Given the description of an element on the screen output the (x, y) to click on. 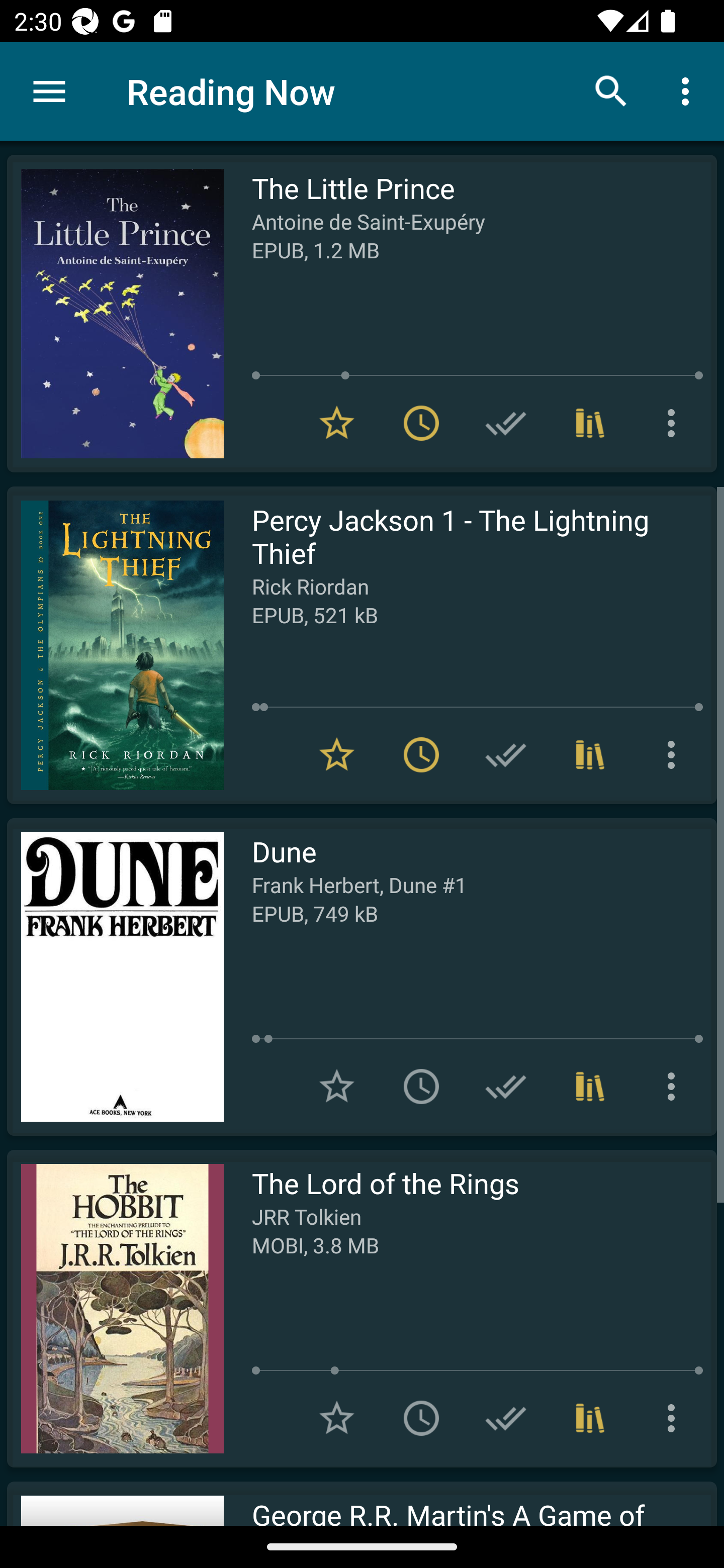
Menu (49, 91)
Search books & documents (611, 90)
More options (688, 90)
Read The Little Prince (115, 313)
Remove from Favorites (336, 423)
Remove from To read (421, 423)
Add to Have read (505, 423)
Collections (1) (590, 423)
More options (674, 423)
Read Percy Jackson 1 - The Lightning Thief (115, 645)
Remove from Favorites (336, 753)
Remove from To read (421, 753)
Add to Have read (505, 753)
Collections (1) (590, 753)
More options (674, 753)
Read Dune (115, 976)
Add to Favorites (336, 1086)
Add to To read (421, 1086)
Add to Have read (505, 1086)
Collections (1) (590, 1086)
More options (674, 1086)
Read The Lord of the Rings (115, 1308)
Add to Favorites (336, 1417)
Add to To read (421, 1417)
Add to Have read (505, 1417)
Collections (1) (590, 1417)
More options (674, 1417)
